Given the description of an element on the screen output the (x, y) to click on. 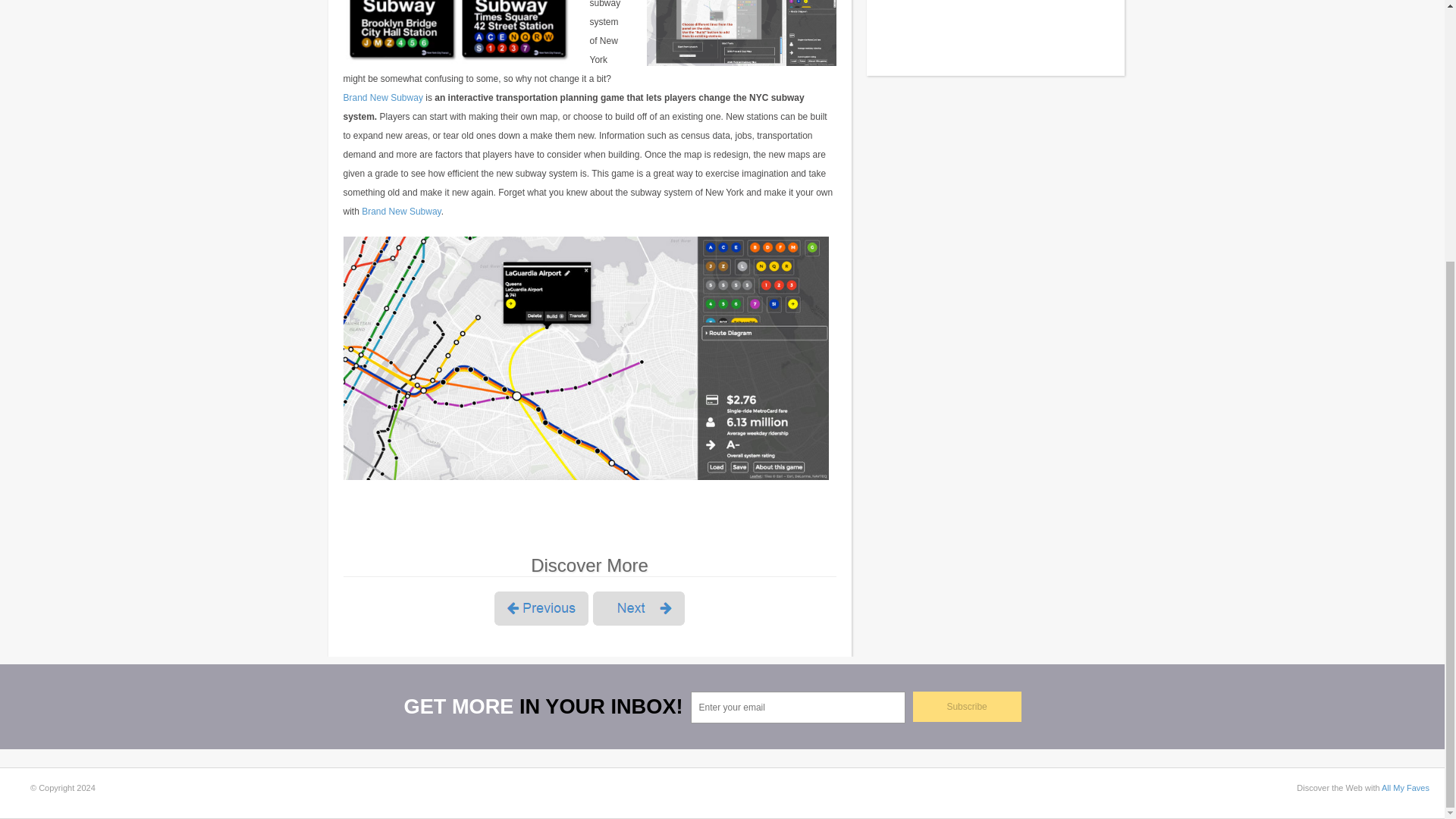
Brand New Subway (456, 32)
Subscribe (967, 706)
Brand New Subway (382, 97)
All My Faves (1405, 787)
Brand New Subway (401, 211)
Brand New Subway (740, 33)
Brand New Subway (585, 357)
